Given the description of an element on the screen output the (x, y) to click on. 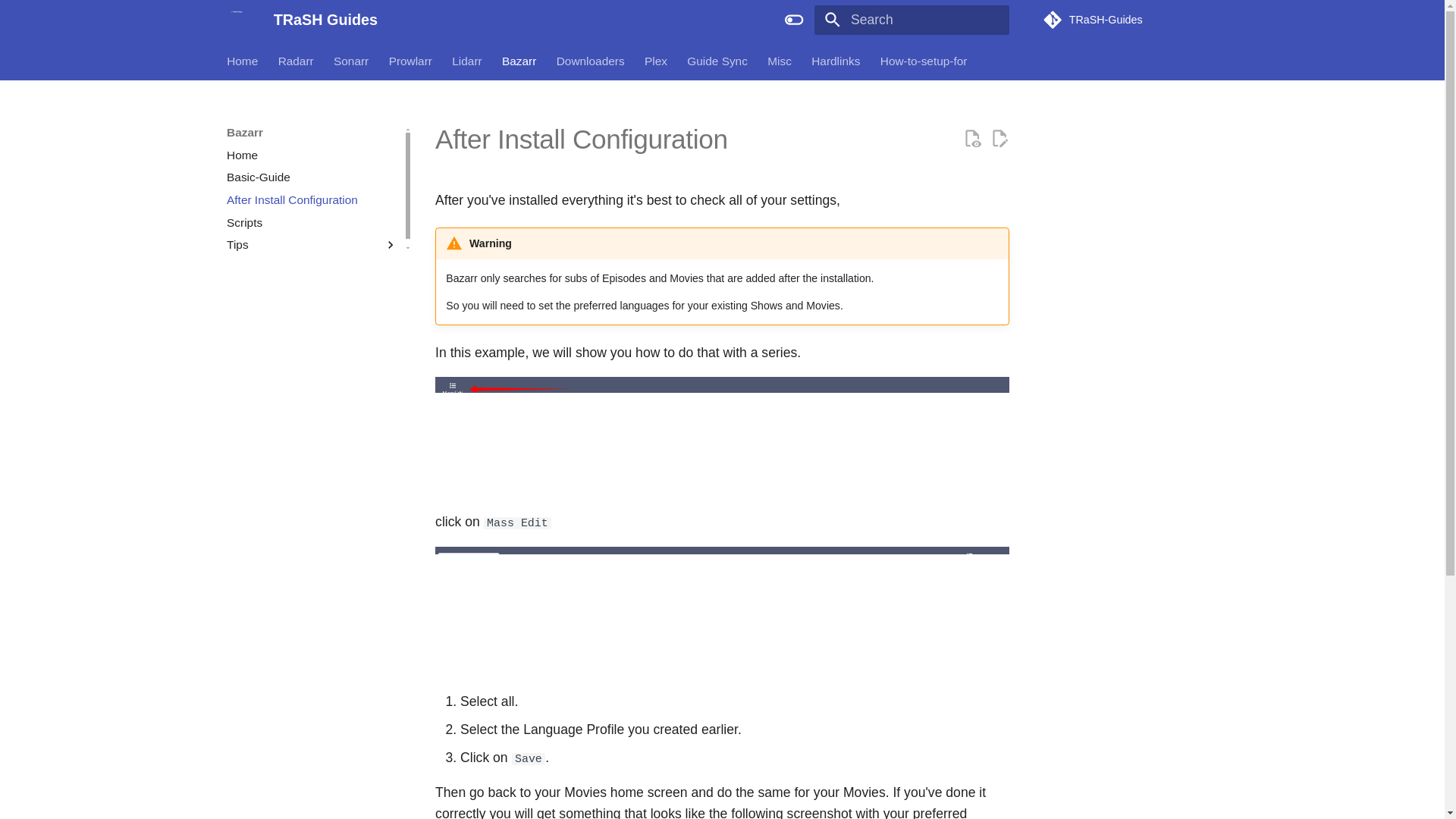
Radarr (296, 60)
Lidarr (466, 60)
Switch to dark mode (793, 19)
Plex (655, 60)
Misc (779, 60)
TRaSH-Guides (1129, 20)
Edit this page (999, 138)
Hardlinks (835, 60)
TRaSH Guides (236, 19)
Home (242, 60)
Downloaders (590, 60)
Sonarr (350, 60)
Prowlarr (410, 60)
View source of this page (971, 138)
